Given the description of an element on the screen output the (x, y) to click on. 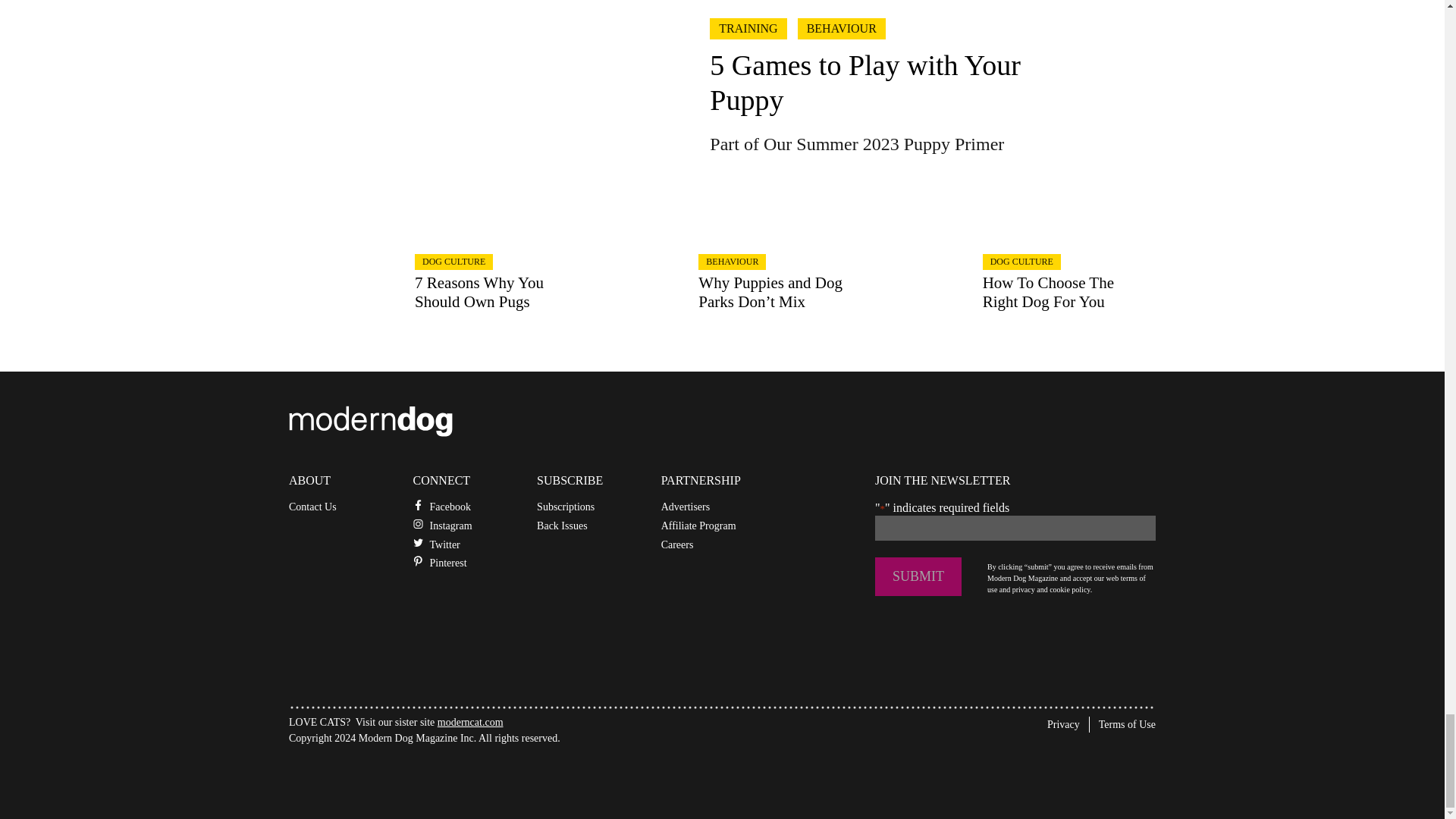
Submit (917, 576)
Funded by the Government of Canada (402, 775)
